Given the description of an element on the screen output the (x, y) to click on. 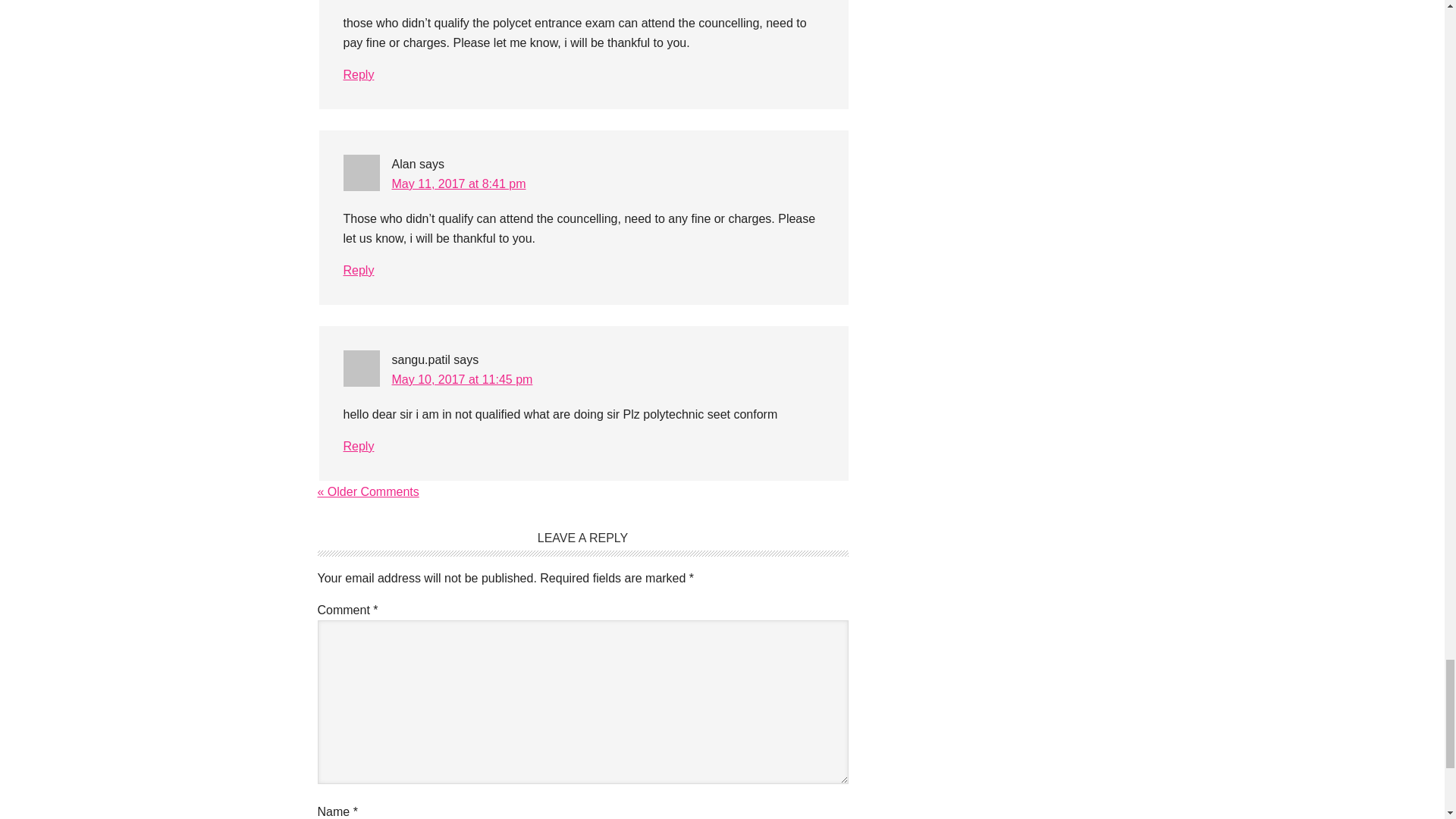
Reply (358, 269)
May 10, 2017 at 11:45 pm (461, 379)
Reply (358, 74)
Reply (358, 445)
May 11, 2017 at 8:41 pm (458, 183)
